Given the description of an element on the screen output the (x, y) to click on. 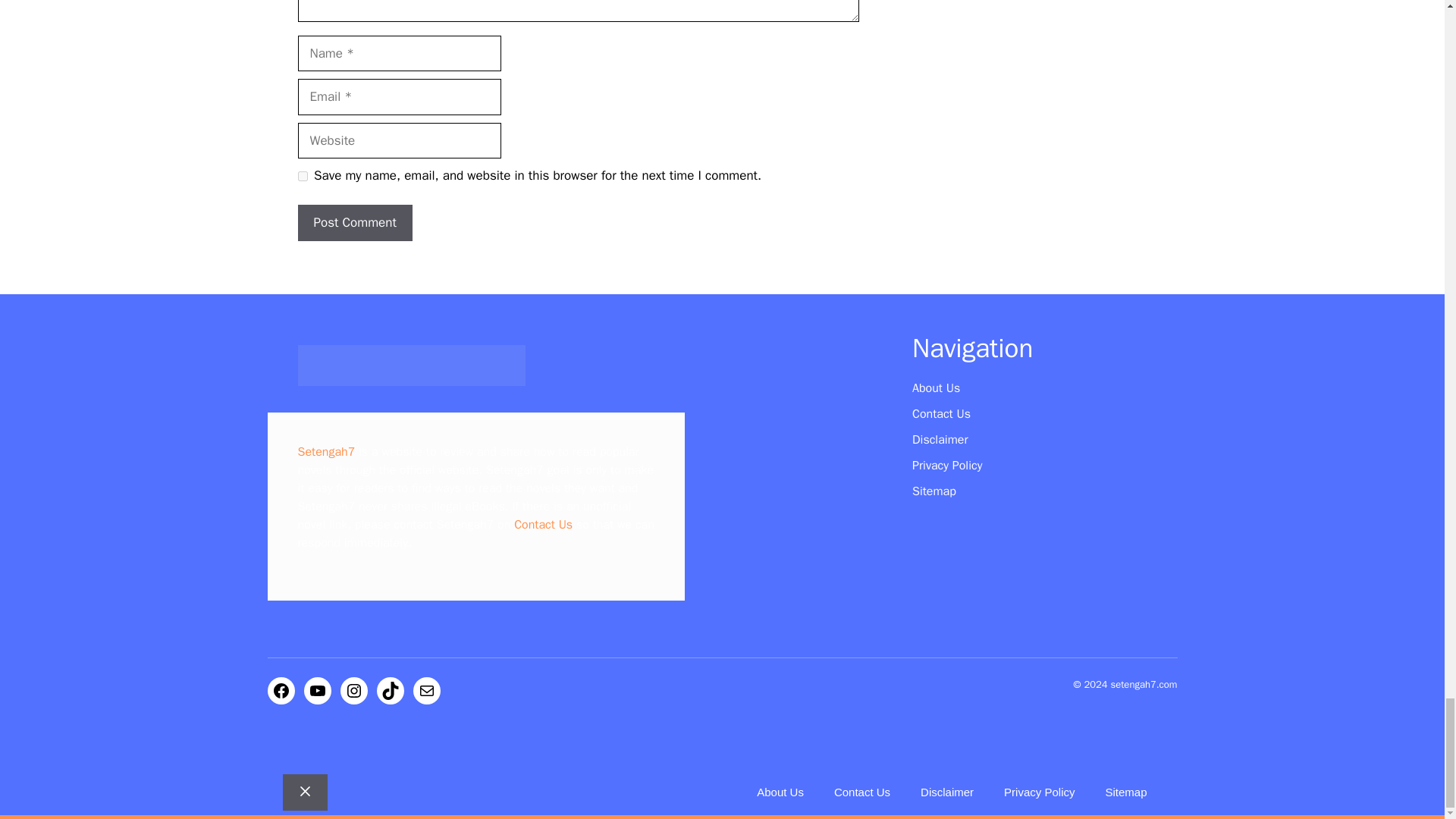
Post Comment (354, 222)
yes (302, 175)
